Given the description of an element on the screen output the (x, y) to click on. 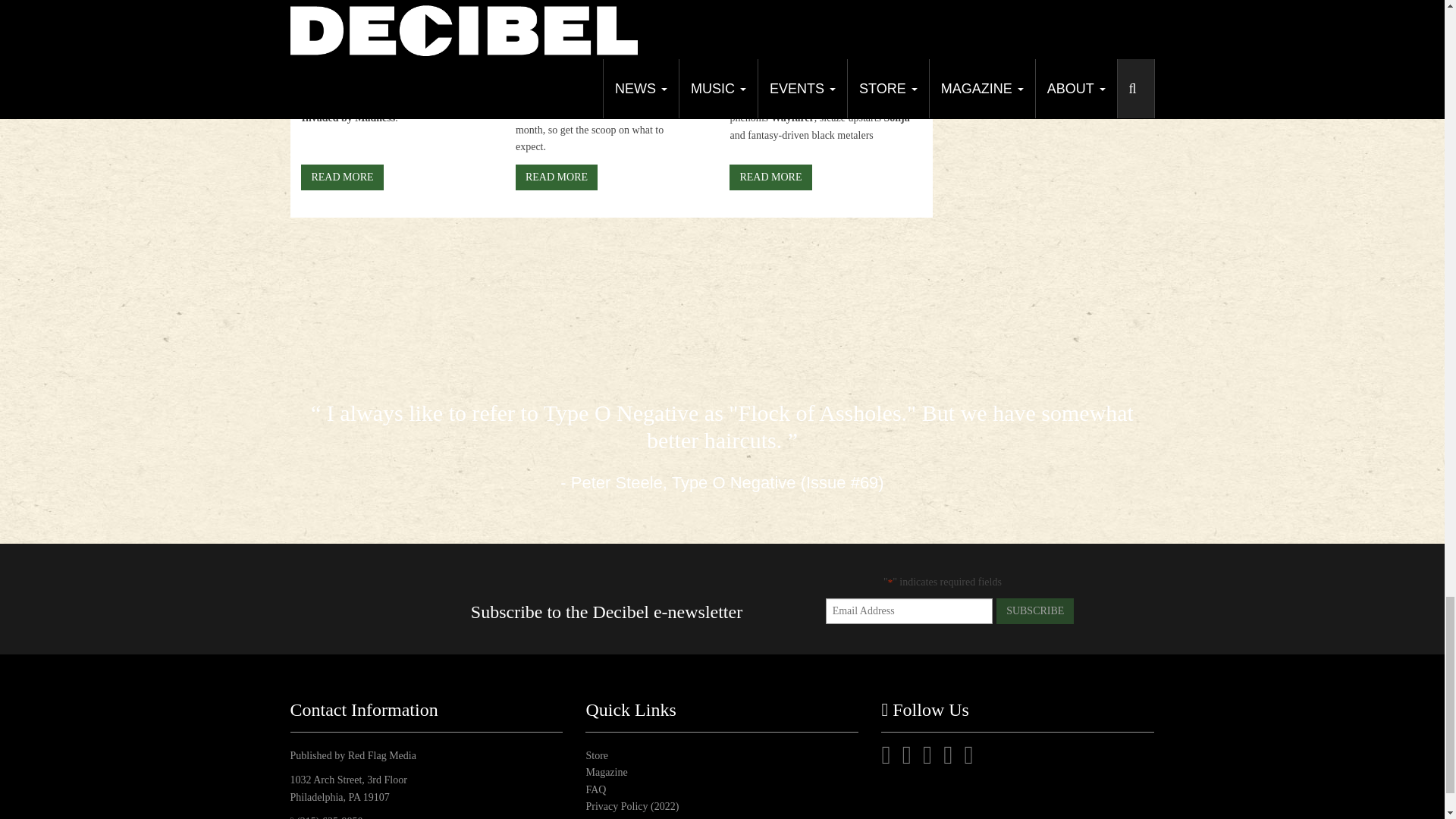
Subscribe (1034, 611)
